Given the description of an element on the screen output the (x, y) to click on. 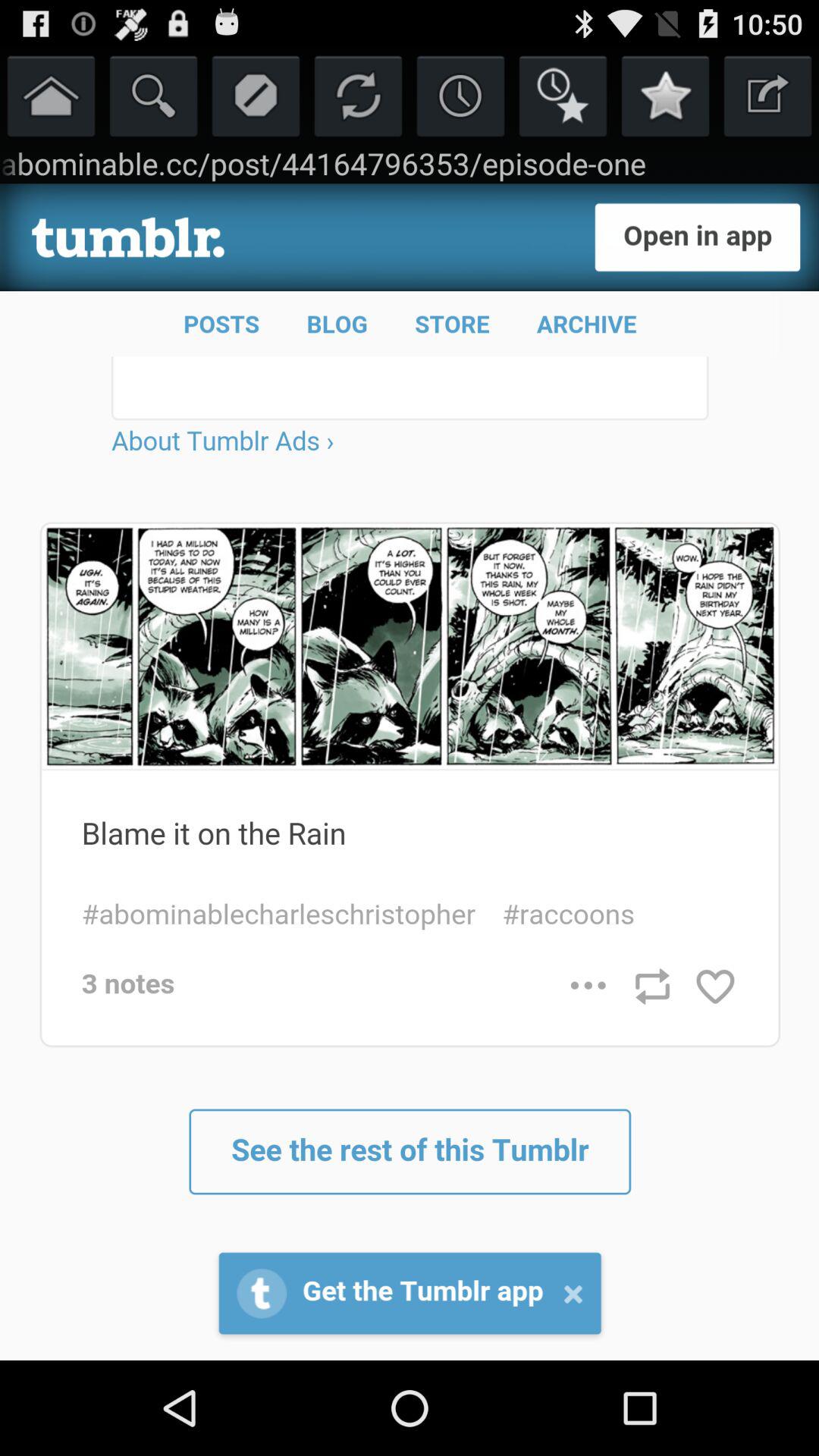
go to history (460, 95)
